Given the description of an element on the screen output the (x, y) to click on. 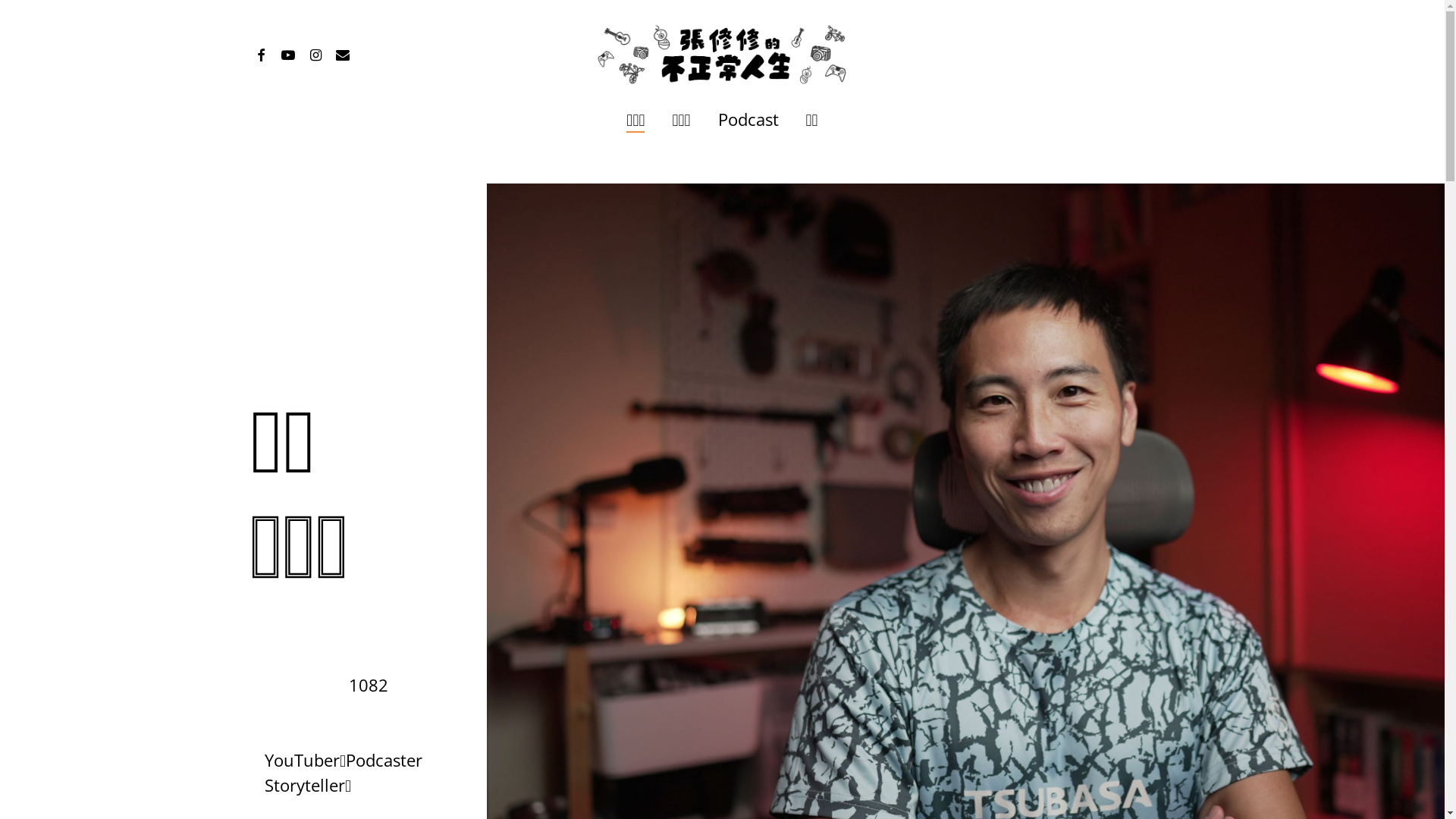
instagram Element type: text (315, 52)
youtube Element type: text (287, 52)
facebook Element type: text (260, 52)
email Element type: text (342, 52)
Podcast Element type: text (748, 118)
